Given the description of an element on the screen output the (x, y) to click on. 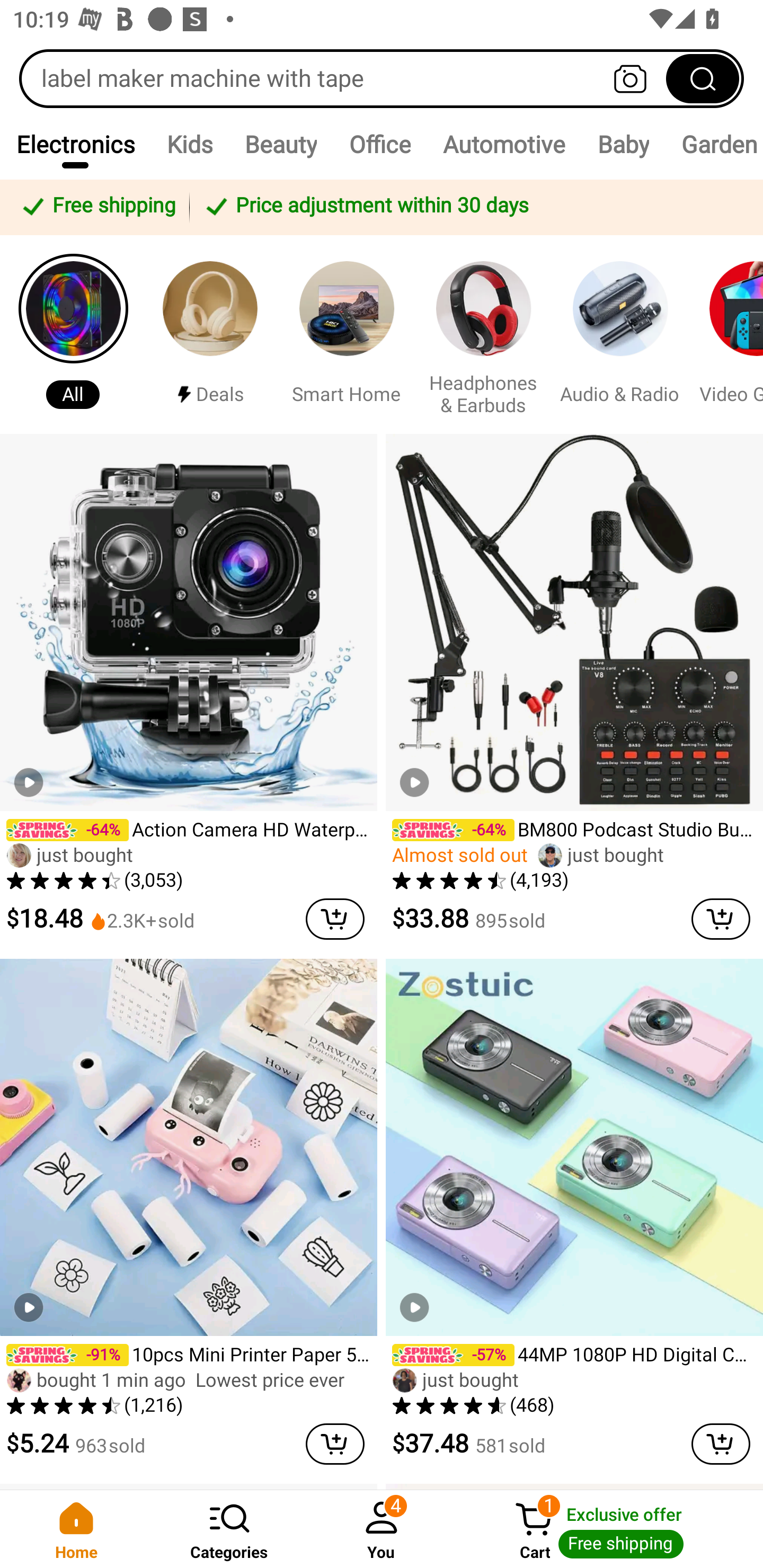
label maker machine with tape (381, 78)
Electronics (75, 144)
Kids (189, 144)
Beauty (280, 144)
Office (379, 144)
Automotive (503, 144)
Baby (623, 144)
Garden (714, 144)
Free shipping (97, 206)
Price adjustment within 30 days (472, 206)
All (72, 333)
￼￼Deals (209, 333)
Smart Home (346, 333)
Headphones & Earbuds (482, 333)
Audio & Radio (619, 333)
cart delete (334, 918)
cart delete (720, 918)
cart delete (334, 1443)
cart delete (720, 1443)
Home (76, 1528)
Categories (228, 1528)
You 4 You (381, 1528)
Cart 1 Cart Exclusive offer (610, 1528)
